Given the description of an element on the screen output the (x, y) to click on. 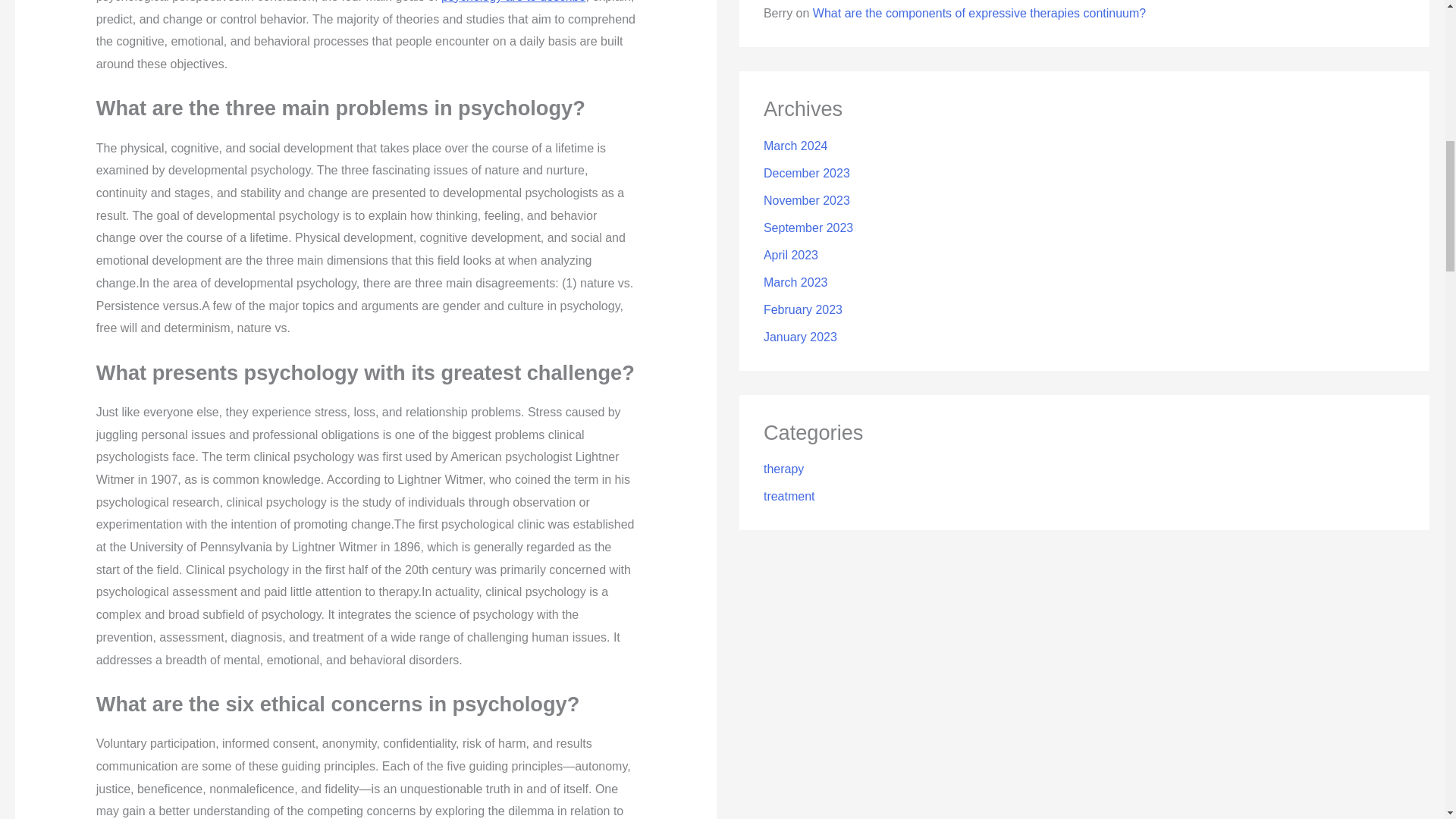
psychology are to describe (513, 1)
